Given the description of an element on the screen output the (x, y) to click on. 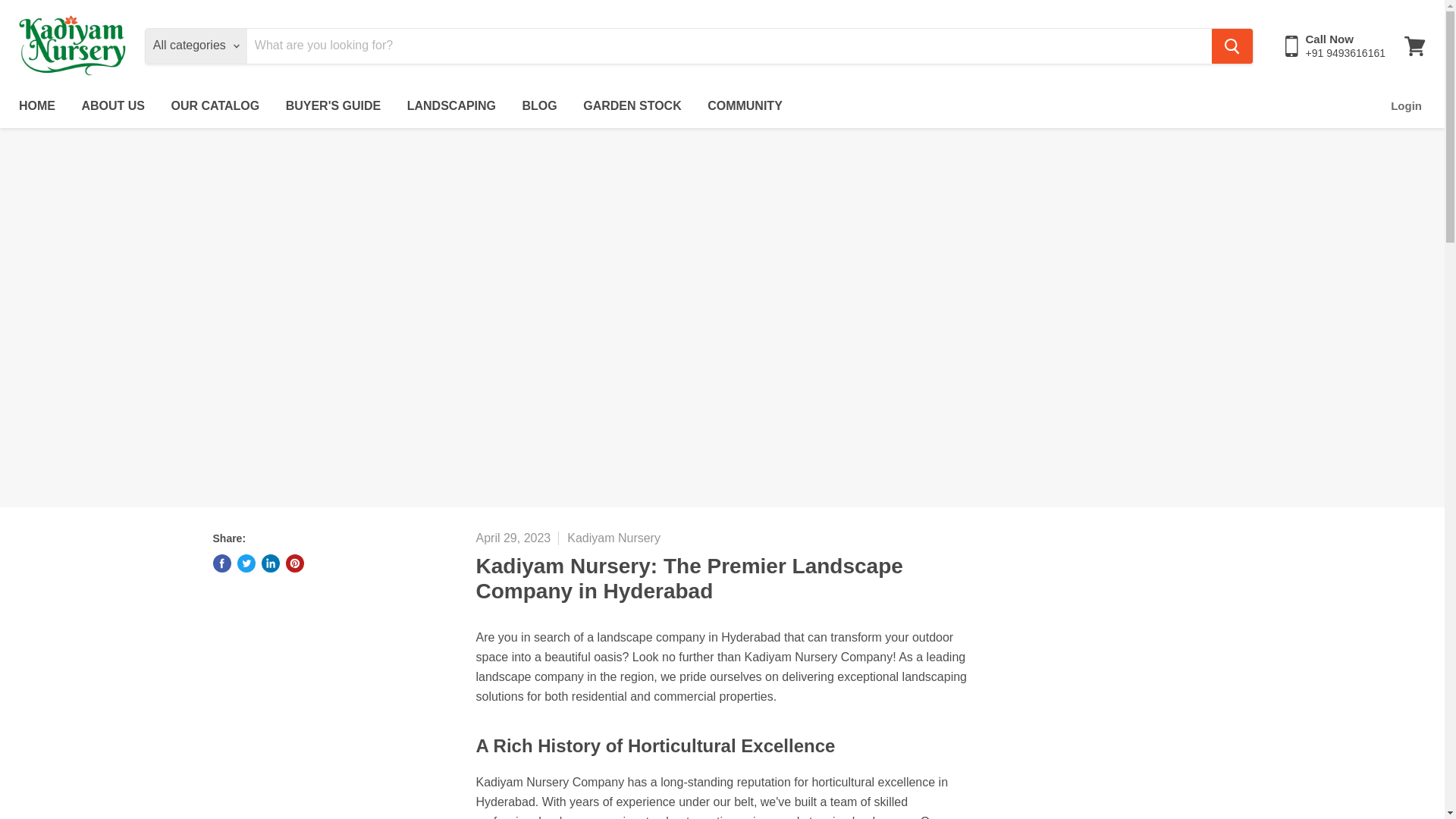
BUYER'S GUIDE (334, 106)
Share on Facebook (221, 563)
GARDEN STOCK (632, 106)
Pin on Pinterest (293, 563)
BLOG (540, 106)
View cart (1414, 45)
Share on LinkedIn (269, 563)
ABOUT US (112, 106)
COMMUNITY (744, 106)
OUR CATALOG (214, 106)
